Given the description of an element on the screen output the (x, y) to click on. 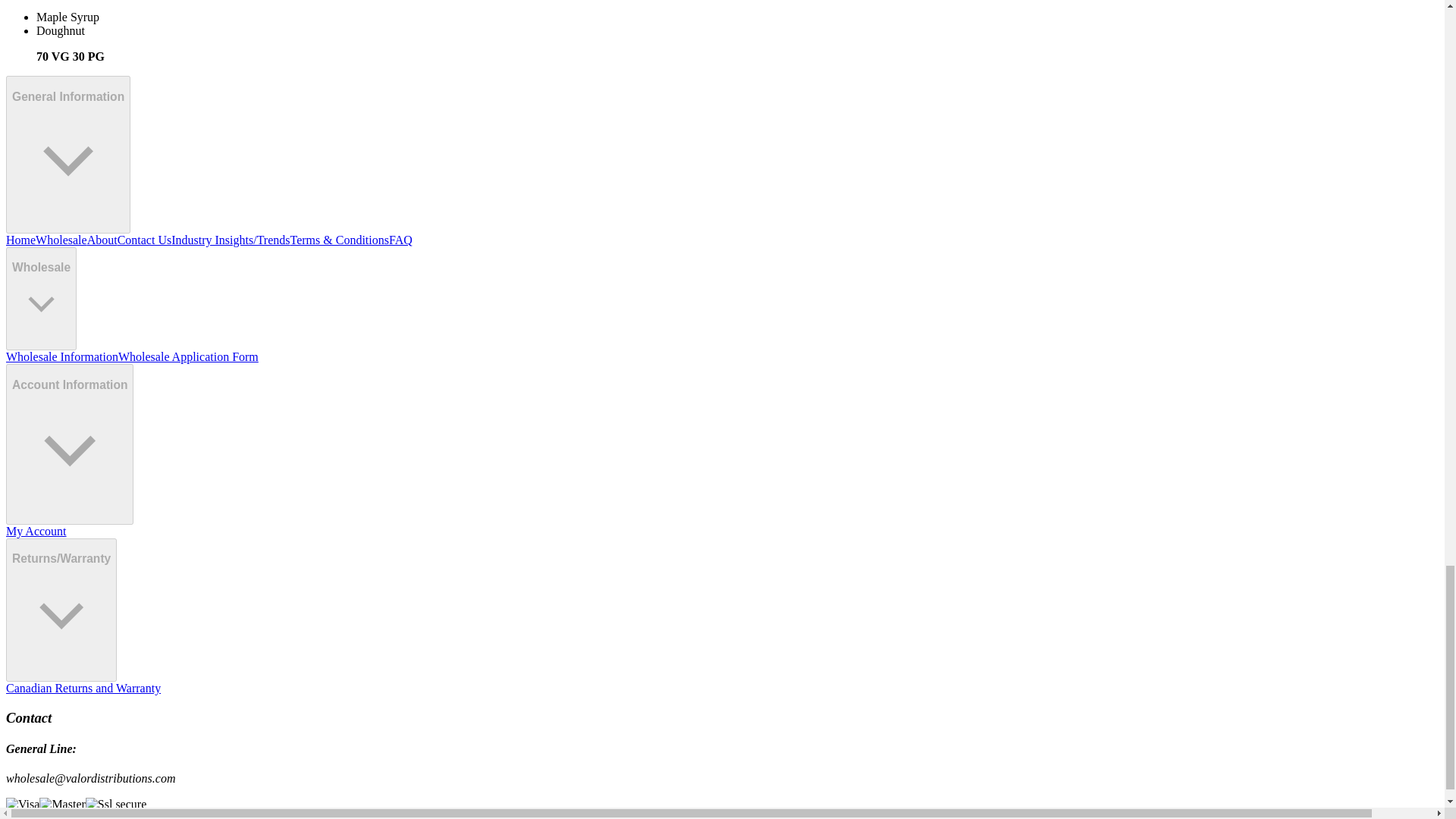
Wholesale (60, 239)
Contact Us (144, 239)
Caret (69, 449)
Caret (40, 303)
My Account (35, 530)
Home (19, 239)
Wholesale Information (61, 356)
Canadian Returns and Warranty (82, 687)
Caret (60, 614)
FAQ (400, 239)
